Given the description of an element on the screen output the (x, y) to click on. 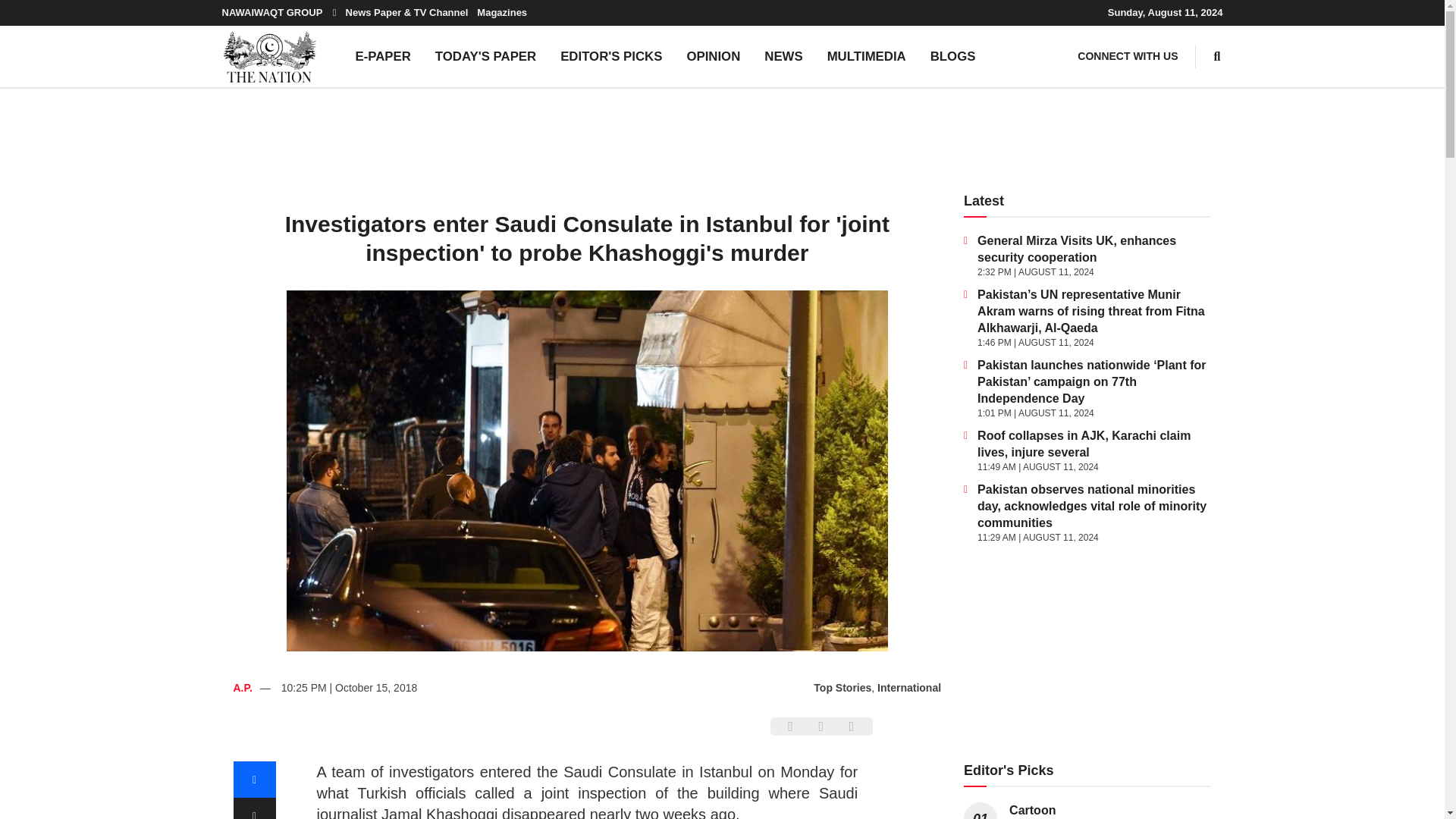
BLOGS (953, 55)
OPINION (713, 55)
Magazines (502, 12)
NEWS (782, 55)
MULTIMEDIA (866, 55)
EDITOR'S PICKS (611, 55)
TODAY'S PAPER (485, 55)
E-PAPER (382, 55)
